Given the description of an element on the screen output the (x, y) to click on. 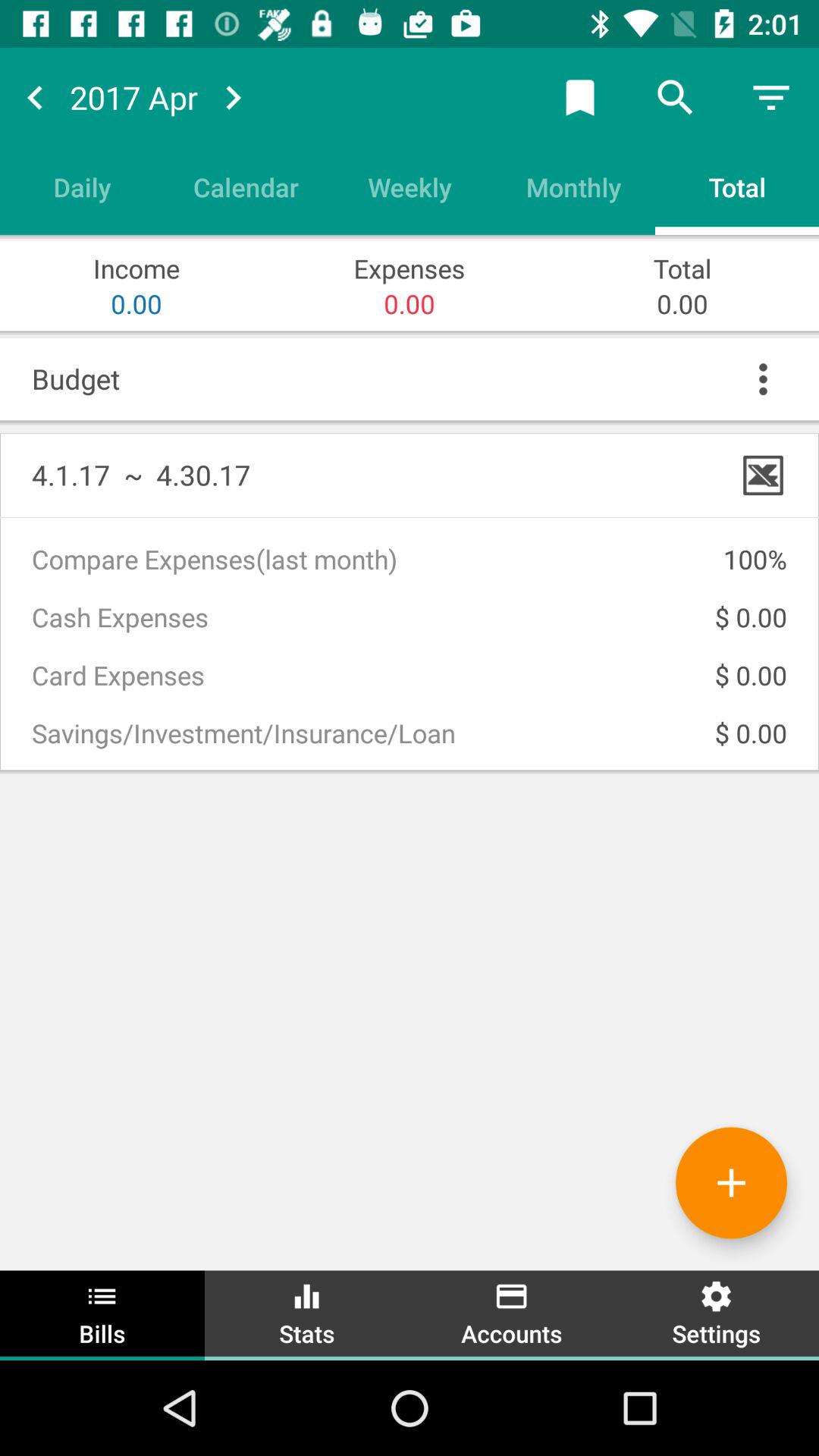
tap the 2017 apr (133, 97)
